Given the description of an element on the screen output the (x, y) to click on. 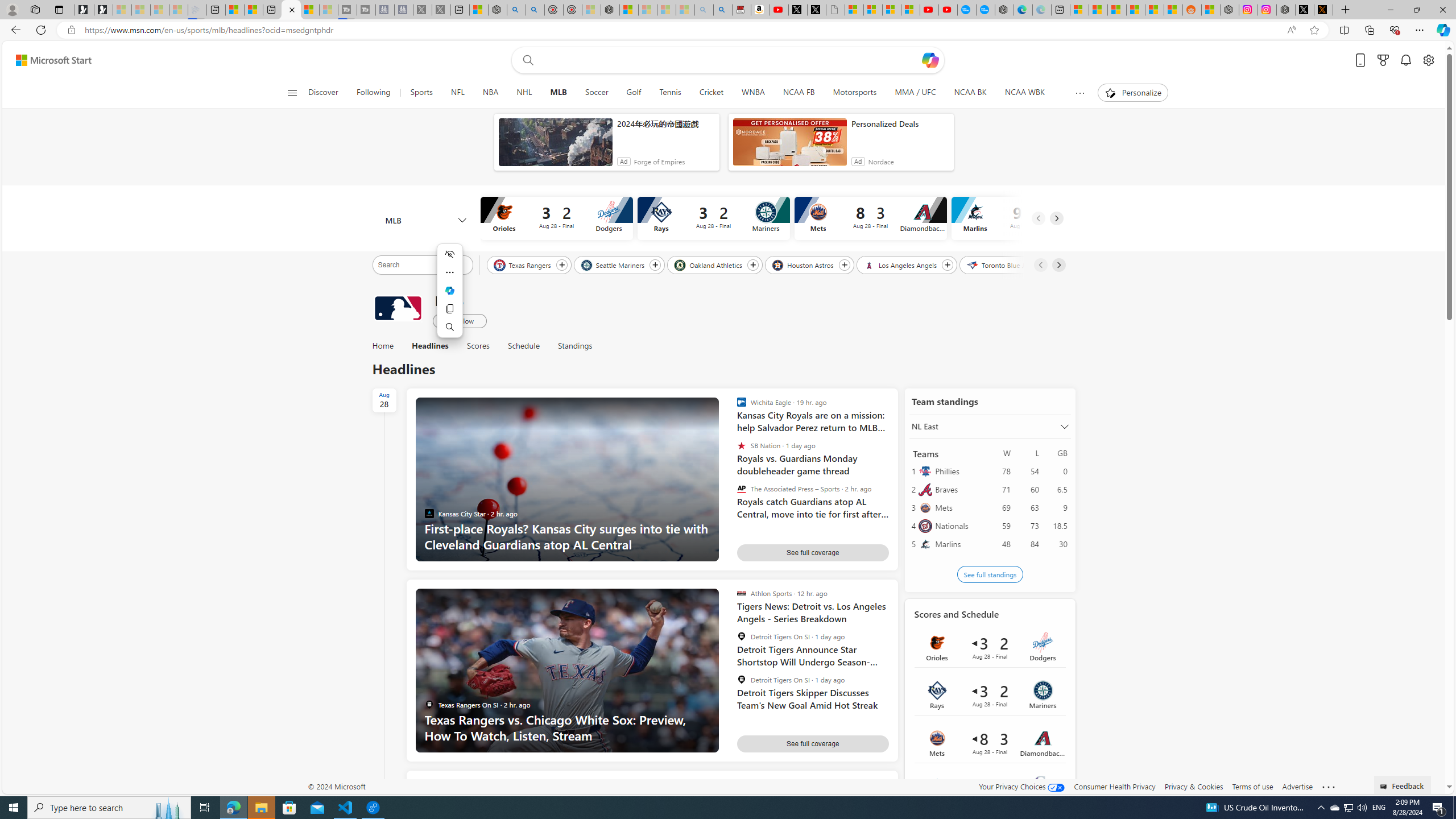
Copy (449, 308)
More actions (449, 272)
Shanghai, China Weather trends | Microsoft Weather (1173, 9)
Your Privacy Choices (1021, 786)
Previous (1039, 264)
